Given the description of an element on the screen output the (x, y) to click on. 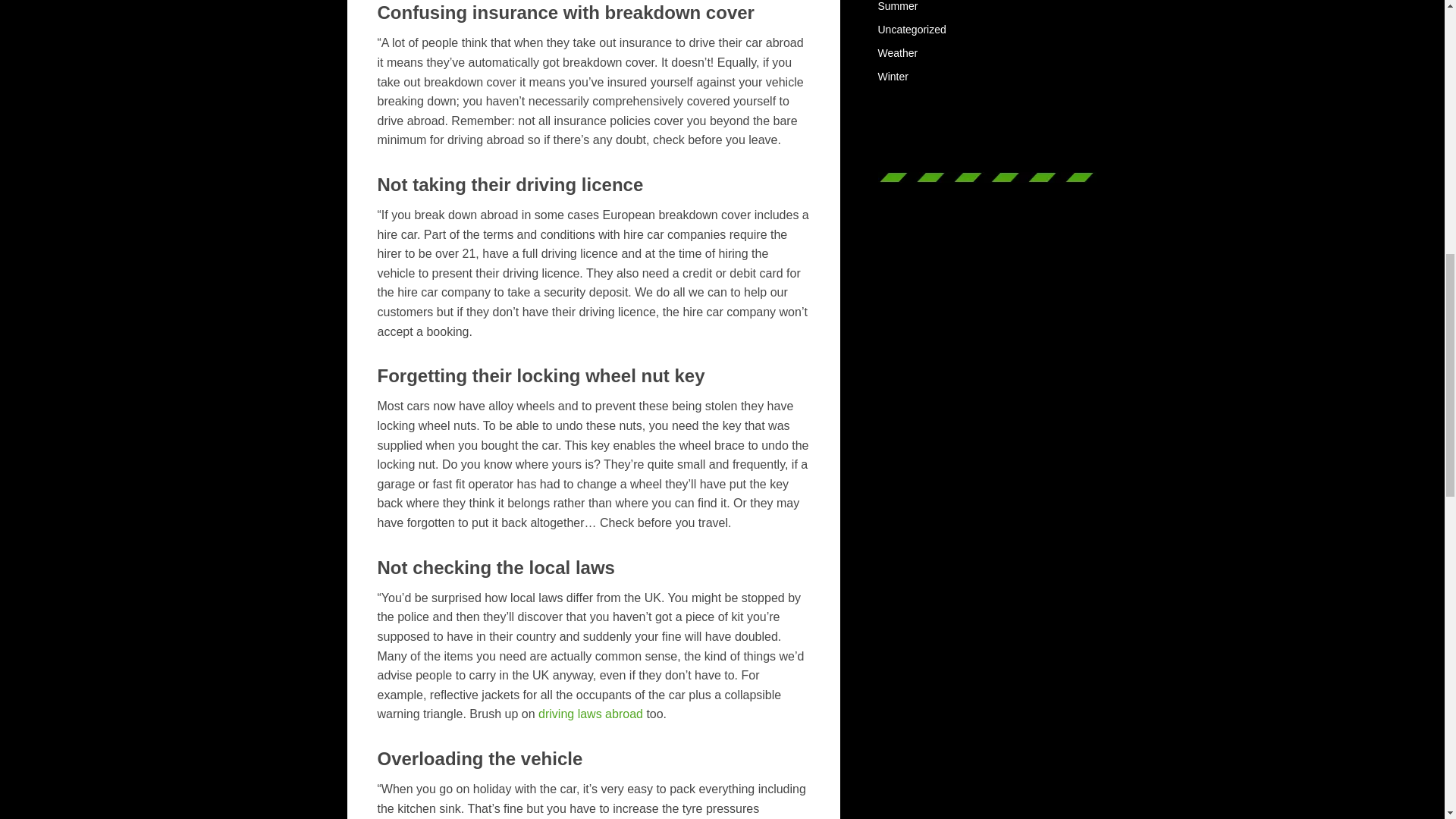
Summer (897, 6)
Driving abroad: Know the local laws (592, 713)
driving laws abroad (592, 713)
Winter (892, 76)
Uncategorized (911, 29)
Weather (897, 52)
